Given the description of an element on the screen output the (x, y) to click on. 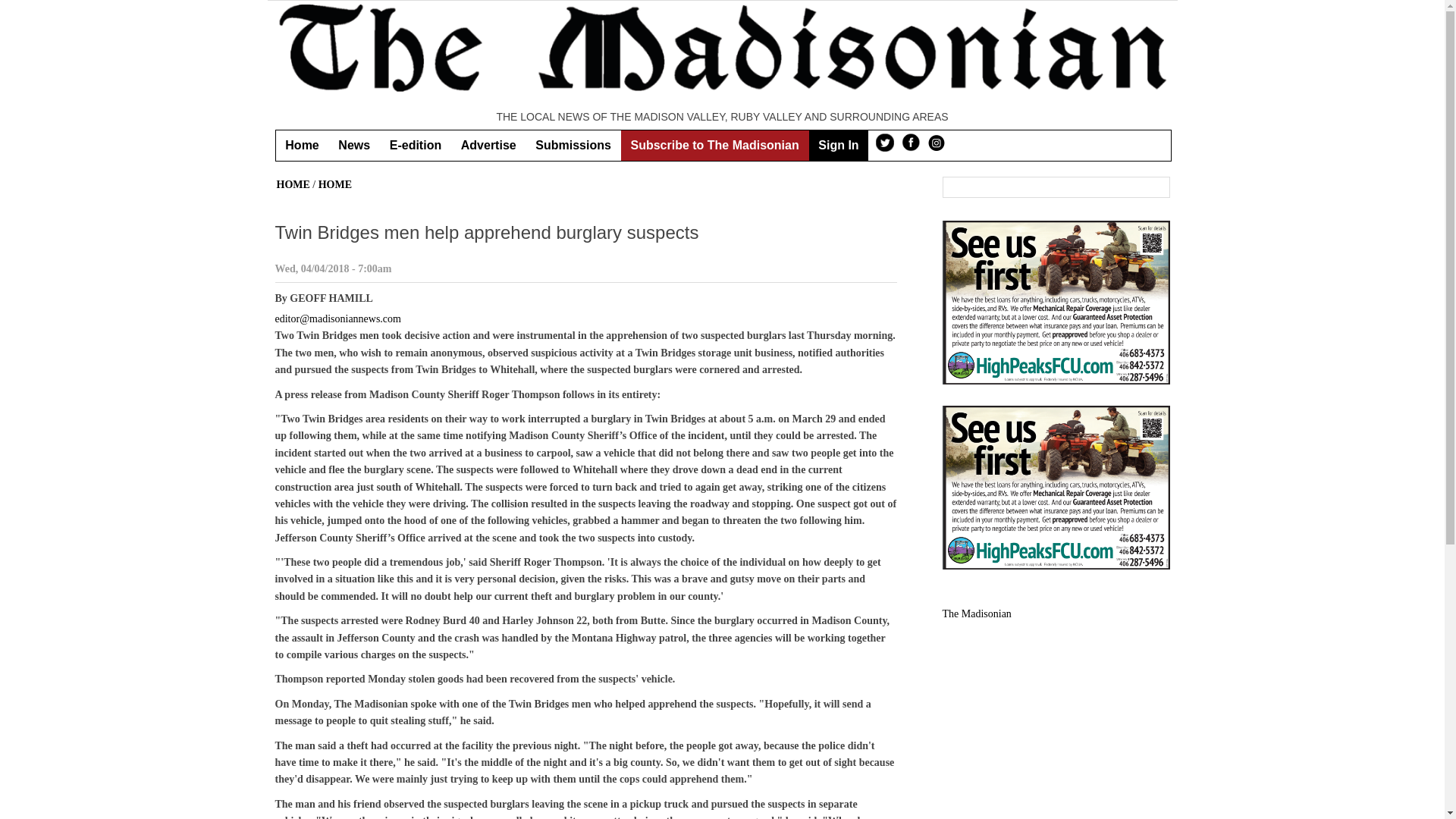
News (354, 145)
The Madisonian (976, 613)
Sign In (837, 145)
Subscribe to The Madisonian (715, 145)
HOME (292, 184)
News (354, 145)
Submissions (572, 145)
Home (302, 145)
Enter the terms you wish to search for. (1043, 187)
HOME (335, 184)
E-edition (415, 145)
Search (1155, 188)
Advertise (488, 145)
Search (1155, 188)
